Given the description of an element on the screen output the (x, y) to click on. 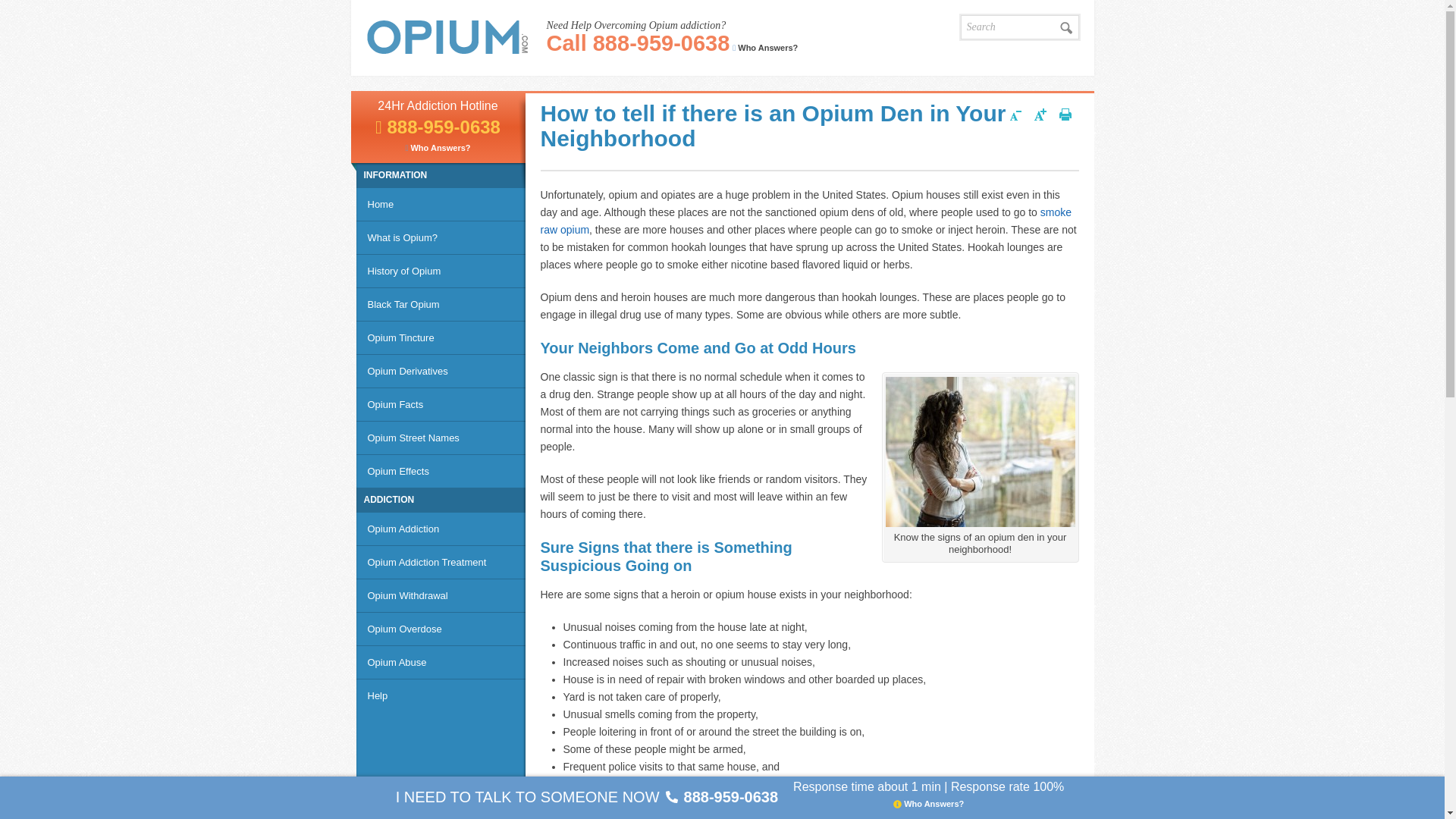
Opium Addiction Treatment (440, 562)
Opium.com (446, 36)
Make Text Larger (1039, 116)
Opium Withdrawal (440, 595)
Opium Overdose (440, 629)
History of Opium (440, 271)
Opium Street Names (440, 438)
What is Opium? (440, 237)
Black Tar Opium (440, 304)
Search Opium.com (1066, 27)
